Given the description of an element on the screen output the (x, y) to click on. 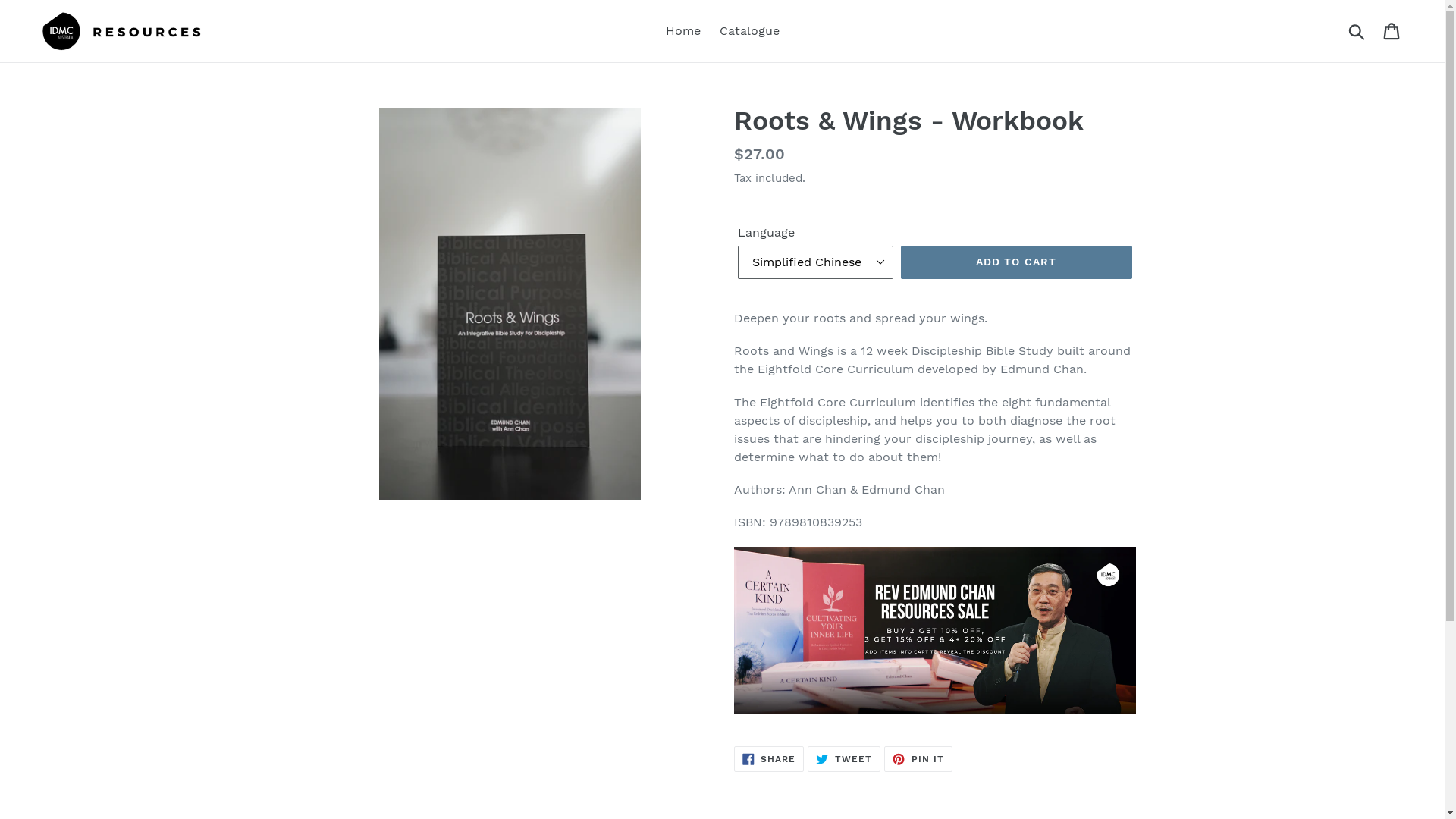
Submit Element type: text (1357, 30)
TWEET
TWEET ON TWITTER Element type: text (843, 758)
Home Element type: text (683, 30)
ADD TO CART Element type: text (1016, 262)
Catalogue Element type: text (748, 30)
Cart Element type: text (1392, 31)
PIN IT
PIN ON PINTEREST Element type: text (918, 758)
SHARE
SHARE ON FACEBOOK Element type: text (769, 758)
